Given the description of an element on the screen output the (x, y) to click on. 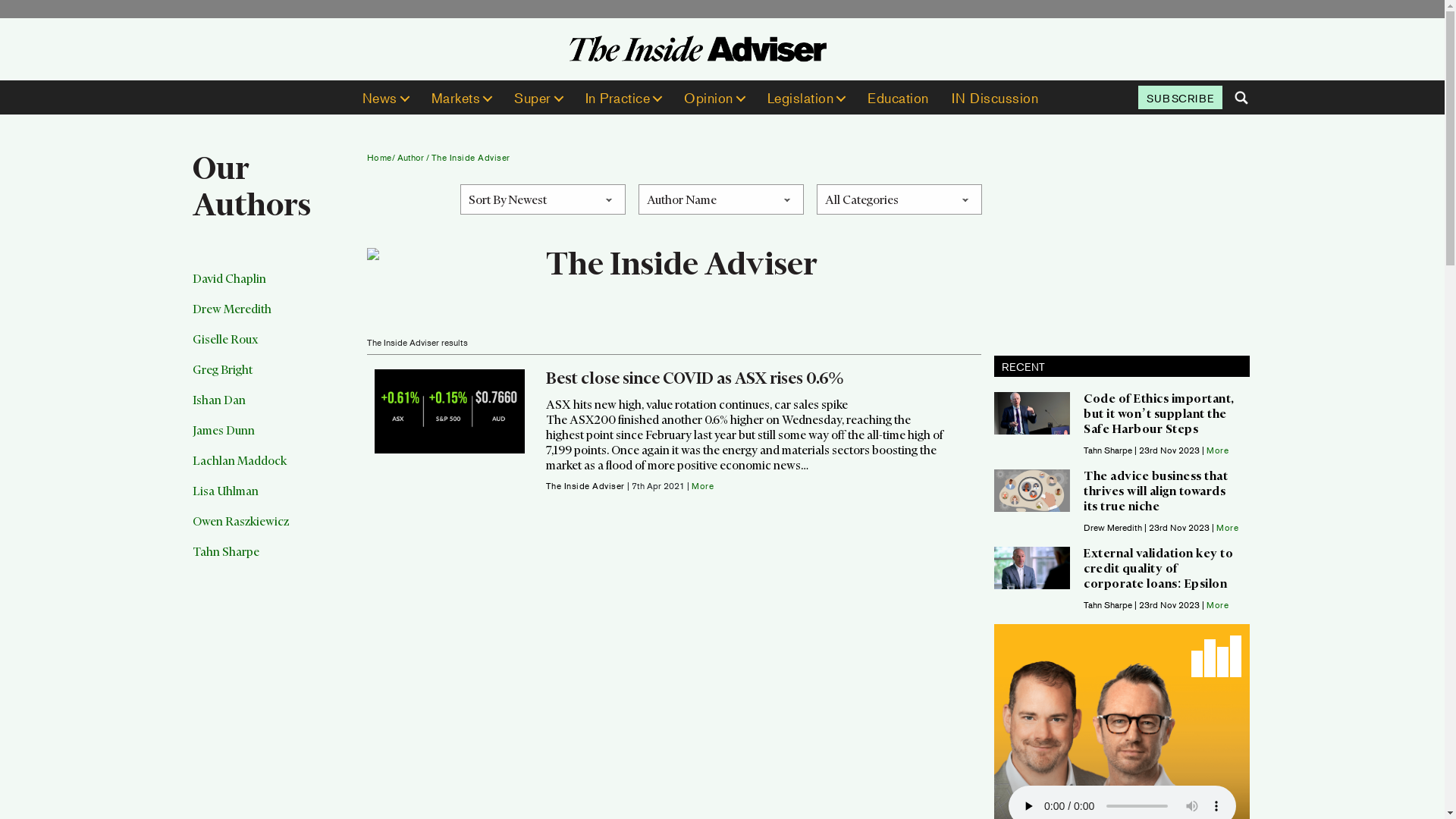
Lisa Uhlman Element type: text (274, 498)
Drew Meredith Element type: text (274, 316)
Giselle Roux Element type: text (274, 347)
Tahn Sharpe | Element type: text (1111, 605)
Education Element type: text (897, 97)
More Element type: text (702, 484)
David Chaplin Element type: text (274, 286)
The Inside Adviser Element type: text (586, 484)
The Inside Adviser Element type: text (470, 156)
Opinion Element type: text (714, 97)
Owen Raszkiewicz Element type: text (274, 529)
Greg Bright Element type: text (274, 377)
IN Discussion Element type: text (994, 97)
Super Element type: text (538, 97)
Ishan Dan Element type: text (274, 407)
Lachlan Maddock Element type: text (274, 468)
Legislation Element type: text (806, 97)
In Practice Element type: text (623, 97)
Best close since COVID as ASX rises 0.6% Element type: text (695, 380)
SUBSCRIBE Element type: text (1180, 97)
Markets Element type: text (460, 97)
More Element type: text (1217, 603)
Tahn Sharpe Element type: text (274, 559)
Drew Meredith | Element type: text (1115, 528)
News Element type: text (385, 97)
More Element type: text (1227, 526)
James Dunn Element type: text (274, 438)
Tahn Sharpe | Element type: text (1111, 450)
Home Element type: text (379, 156)
More Element type: text (1217, 449)
